Given the description of an element on the screen output the (x, y) to click on. 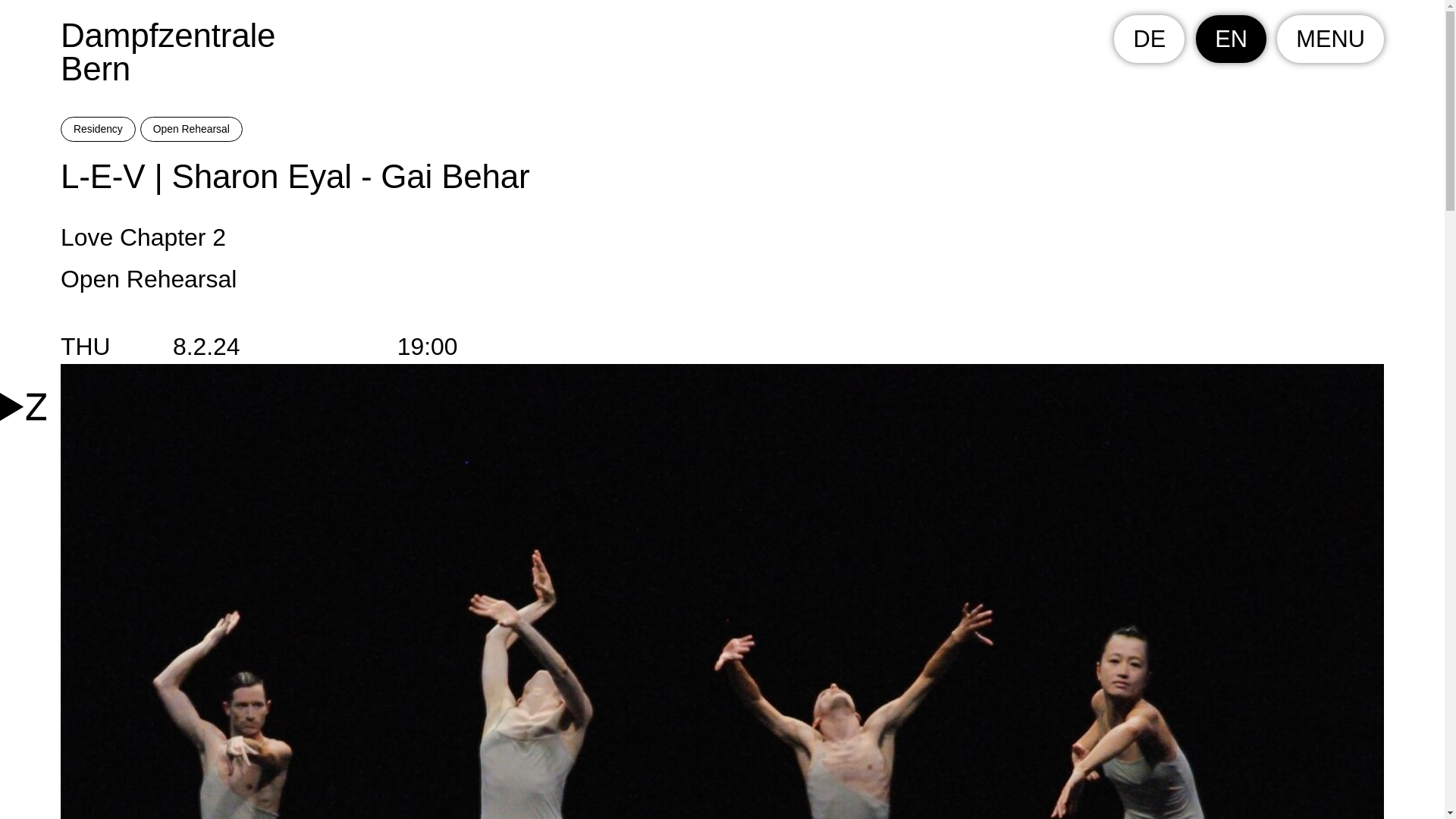
DE (1149, 39)
EN (1230, 39)
Change language to English (1230, 39)
Change language to Deutsch (1149, 39)
MENU (722, 51)
